Given the description of an element on the screen output the (x, y) to click on. 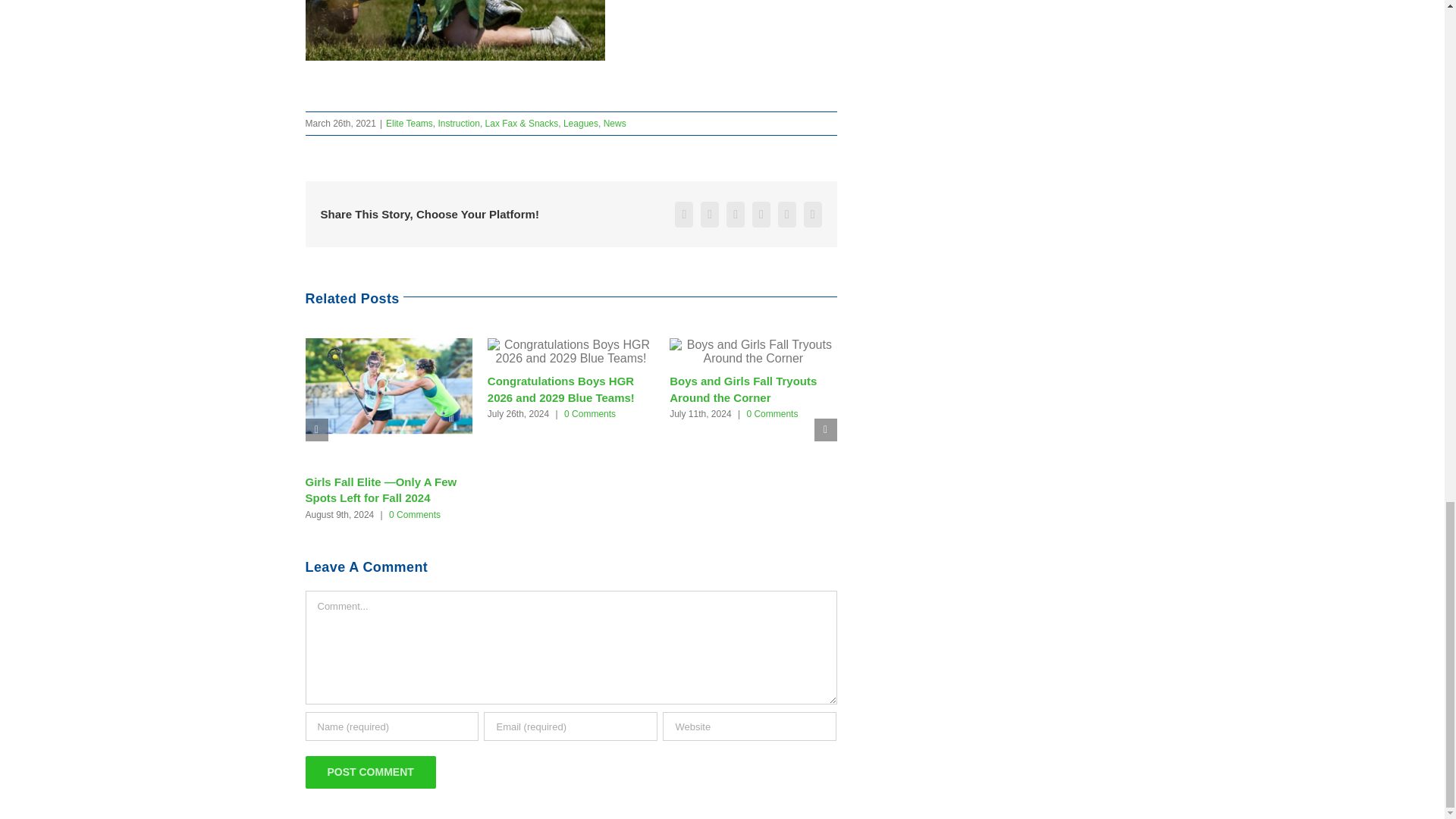
Post Comment (369, 771)
Congratulations Boys HGR 2026 and 2029 Blue Teams! (560, 388)
Boys and Girls Fall Tryouts Around the Corner (742, 388)
